Given the description of an element on the screen output the (x, y) to click on. 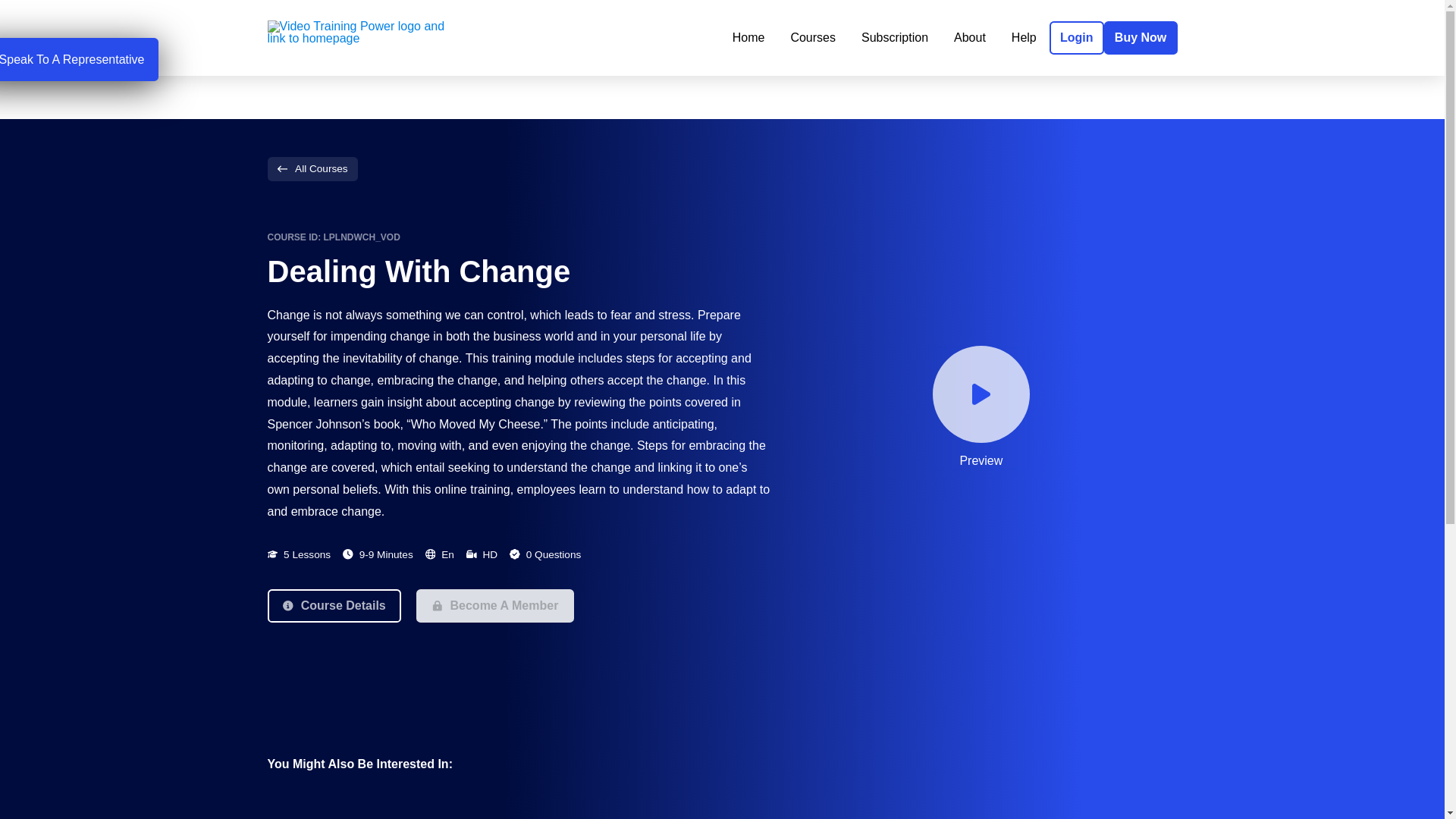
All Courses (311, 168)
Become A Member (494, 605)
Login (1076, 37)
Courses (812, 38)
Subscription (894, 38)
Buy Now (1140, 37)
